Given the description of an element on the screen output the (x, y) to click on. 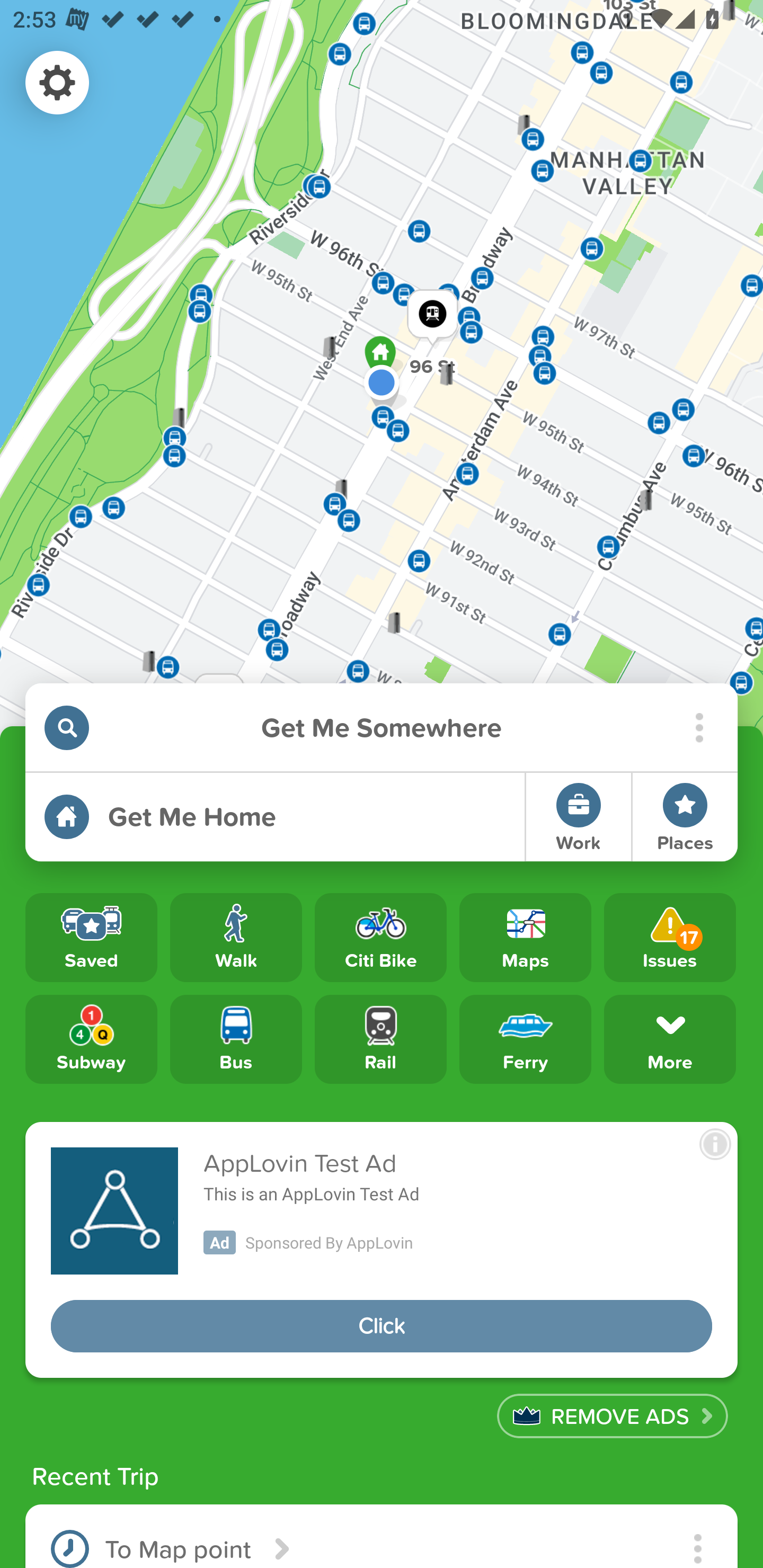
More (670, 1038)
